Given the description of an element on the screen output the (x, y) to click on. 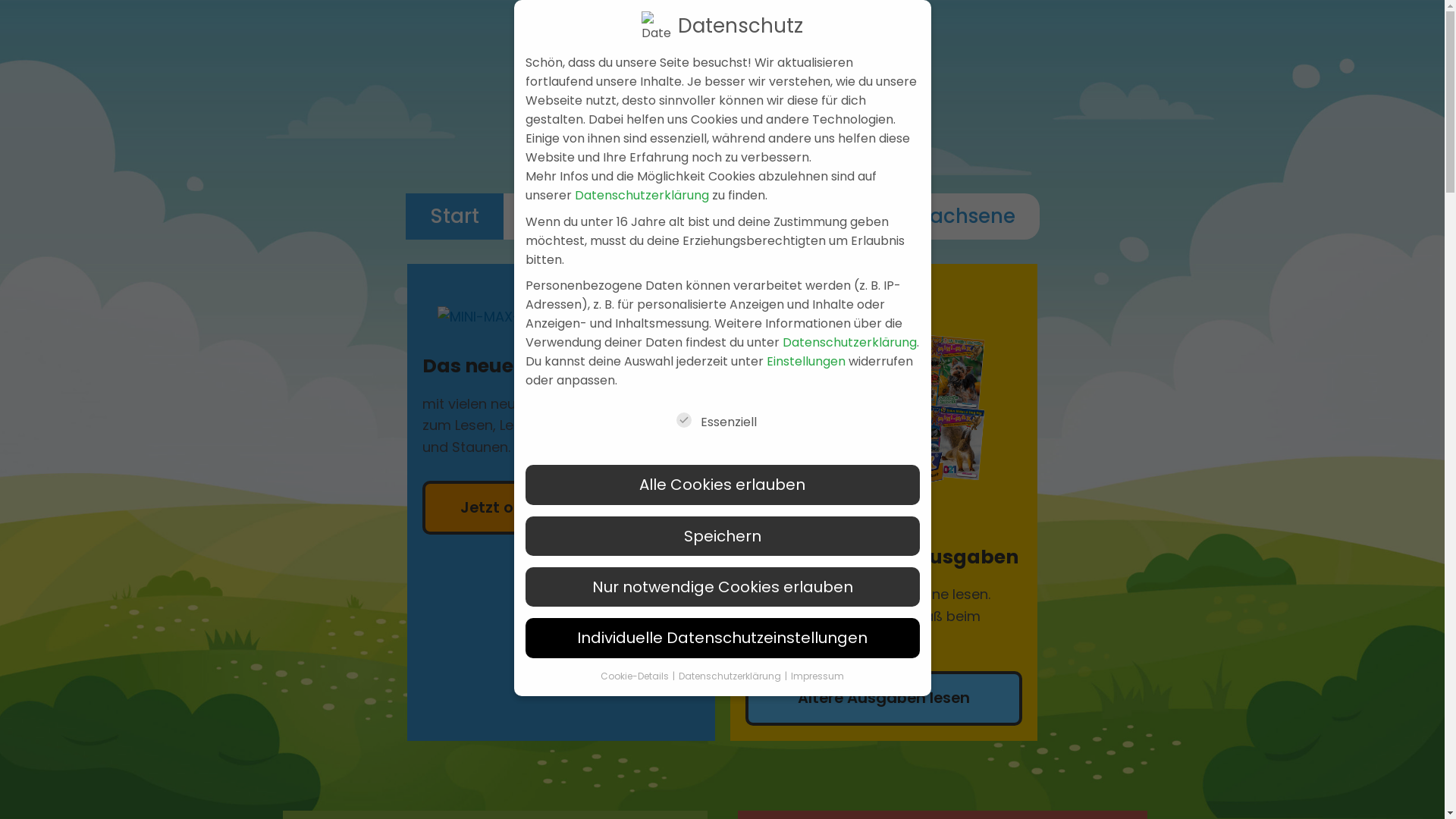
Start Element type: text (453, 216)
Cookie-Details Element type: text (635, 675)
Nur notwendige Cookies erlauben Element type: text (721, 586)
Alle Cookies erlauben Element type: text (721, 484)
Speichern Element type: text (721, 535)
Einstellungen Element type: text (804, 361)
Schreib uns Element type: text (586, 216)
Impressum Element type: text (817, 675)
Individuelle Datenschutzeinstellungen Element type: text (721, 637)
